Given the description of an element on the screen output the (x, y) to click on. 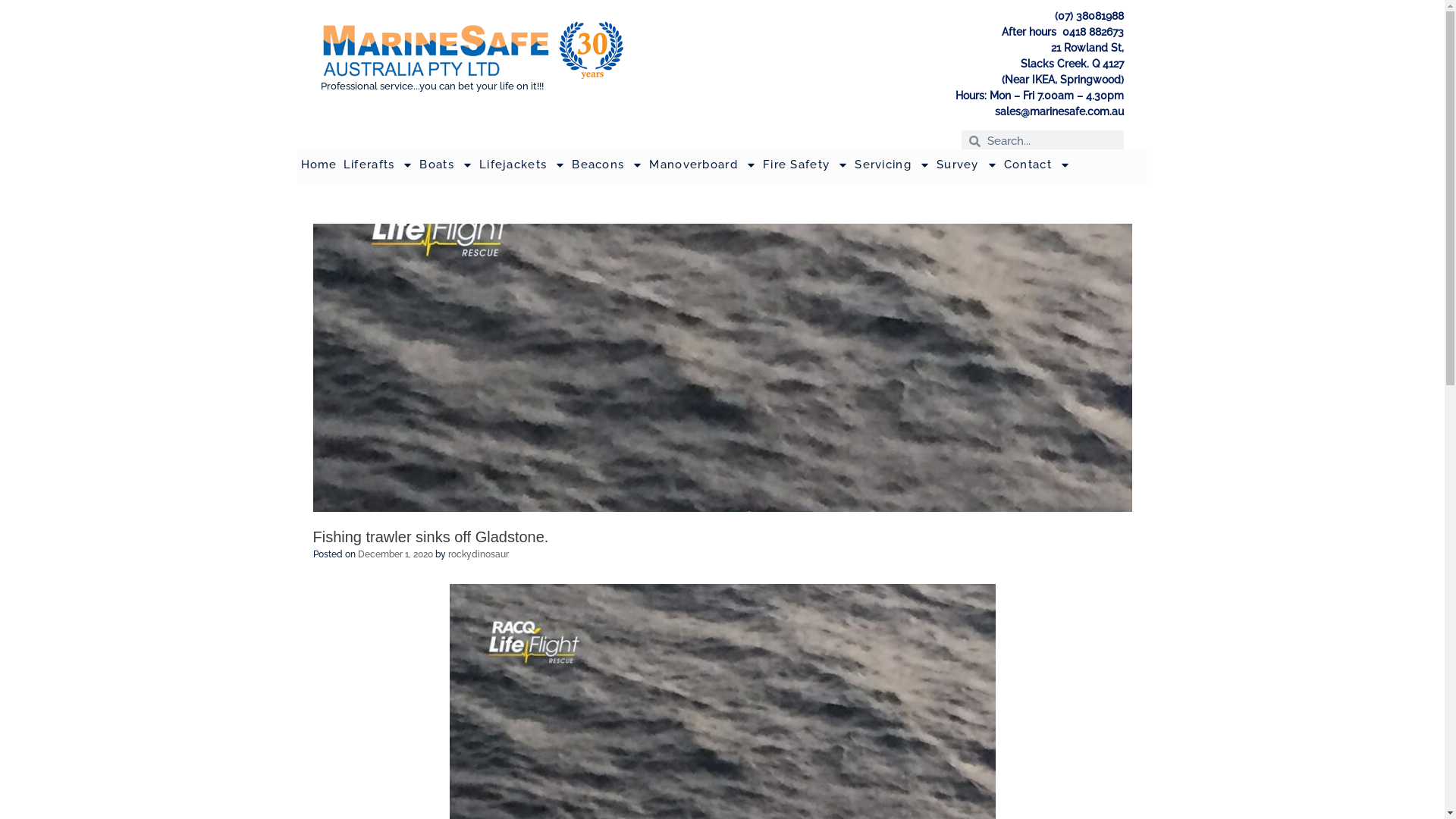
Beacons Element type: text (607, 164)
Liferafts Element type: text (378, 164)
Home Element type: text (318, 164)
Contact Element type: text (1037, 164)
Lifejackets Element type: text (522, 164)
Manoverboard Element type: text (702, 164)
Boats Element type: text (446, 164)
Survey Element type: text (967, 164)
Servicing Element type: text (892, 164)
December 1, 2020 Element type: text (395, 554)
Fire Safety Element type: text (805, 164)
rockydinosaur Element type: text (477, 554)
